Given the description of an element on the screen output the (x, y) to click on. 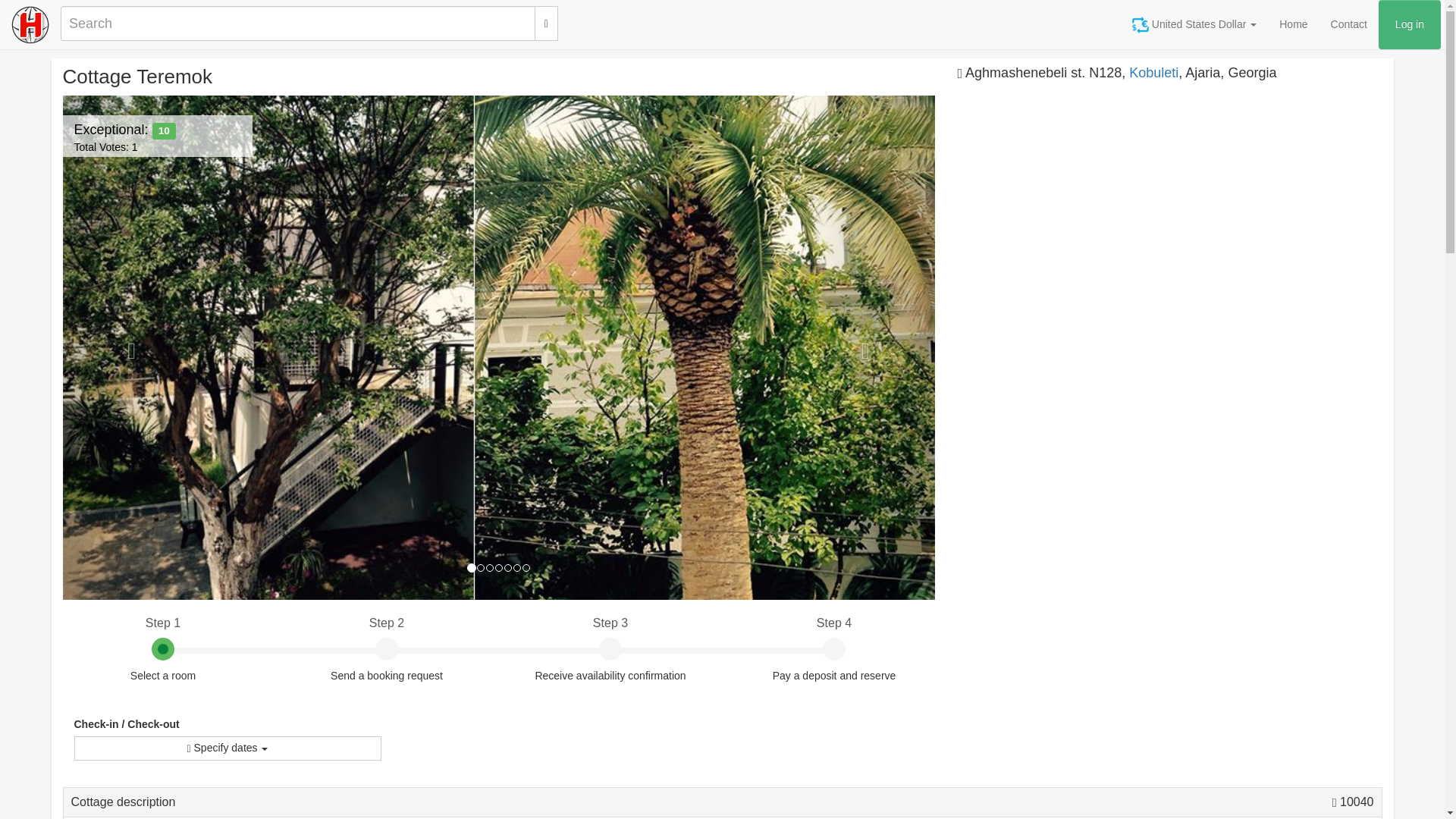
Kobuleti (1153, 72)
Log in (1409, 24)
View (125, 137)
Contact (1353, 801)
Home (1348, 24)
United States Dollar (1293, 24)
